Given the description of an element on the screen output the (x, y) to click on. 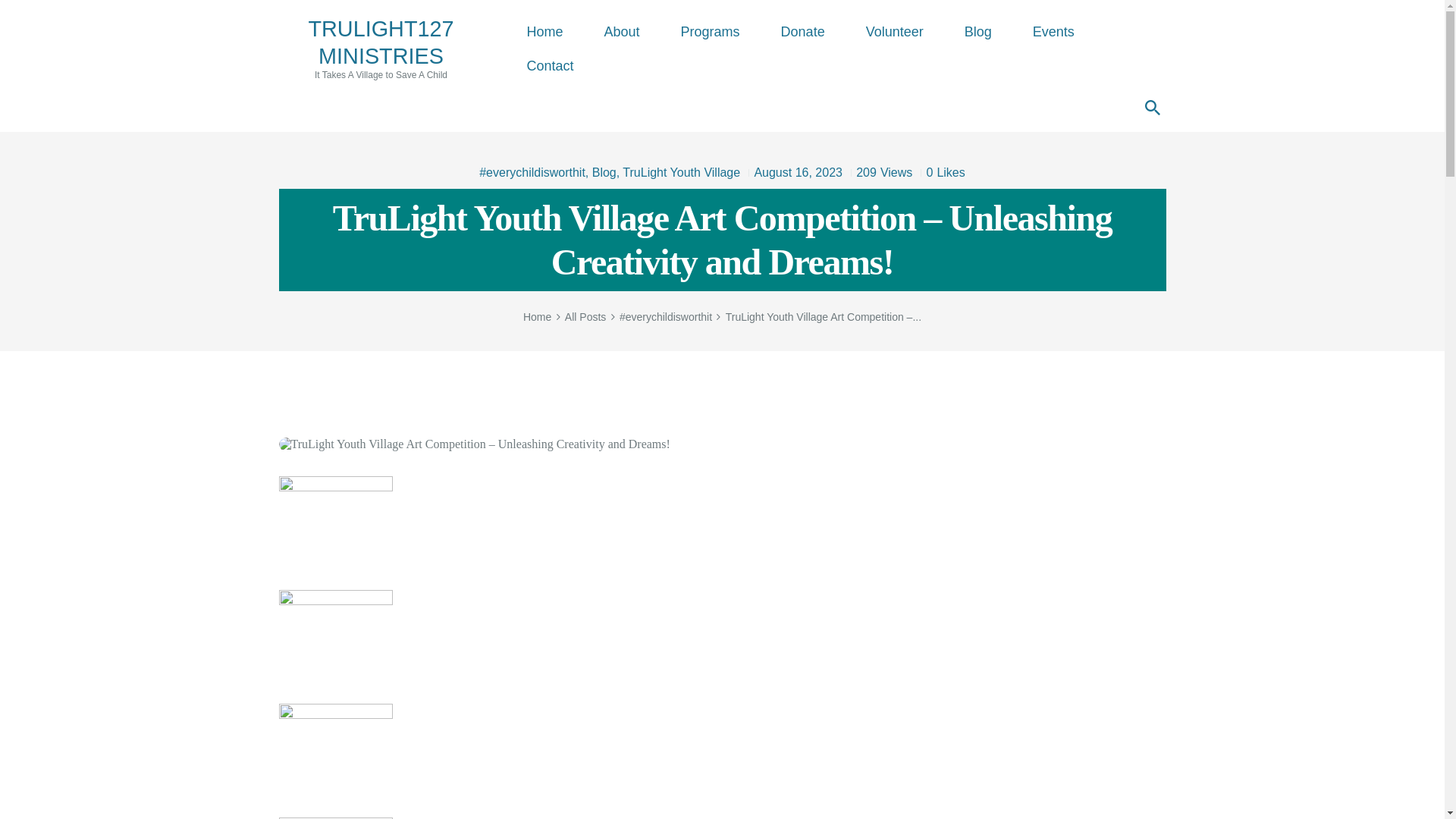
Home (544, 32)
Donate (802, 32)
Contact (550, 66)
Programs (710, 32)
Events (381, 48)
Blog (1052, 32)
Volunteer (977, 32)
Like (894, 32)
About (940, 172)
